Given the description of an element on the screen output the (x, y) to click on. 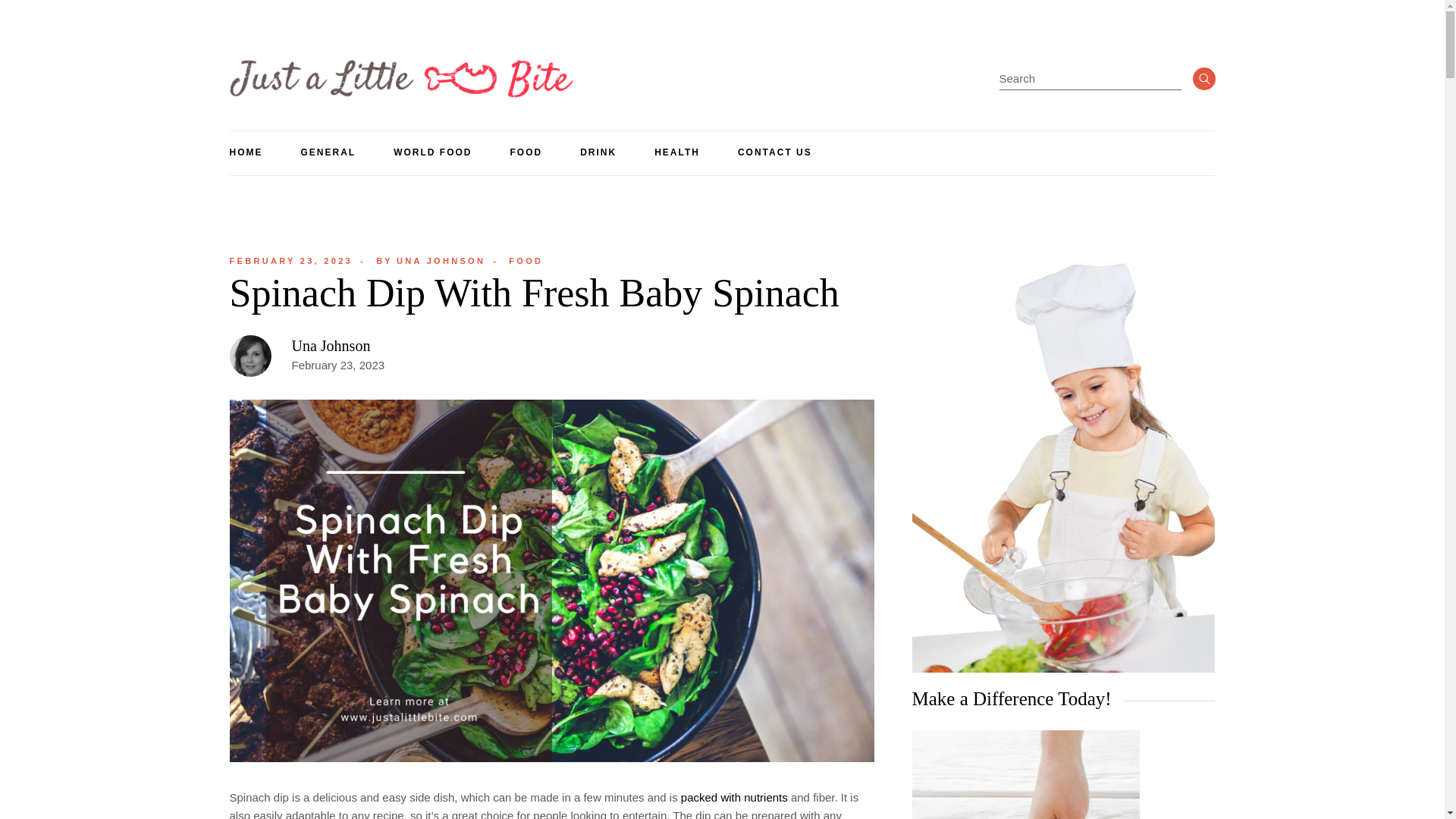
FEBRUARY 23, 2023 (429, 261)
HEALTH (290, 261)
Una Johnson (676, 153)
Title Text:  (330, 345)
WORLD FOOD (290, 261)
GENERAL (432, 153)
CONTACT US (327, 153)
Make a Difference Today! (775, 153)
FOOD (1024, 774)
